Given the description of an element on the screen output the (x, y) to click on. 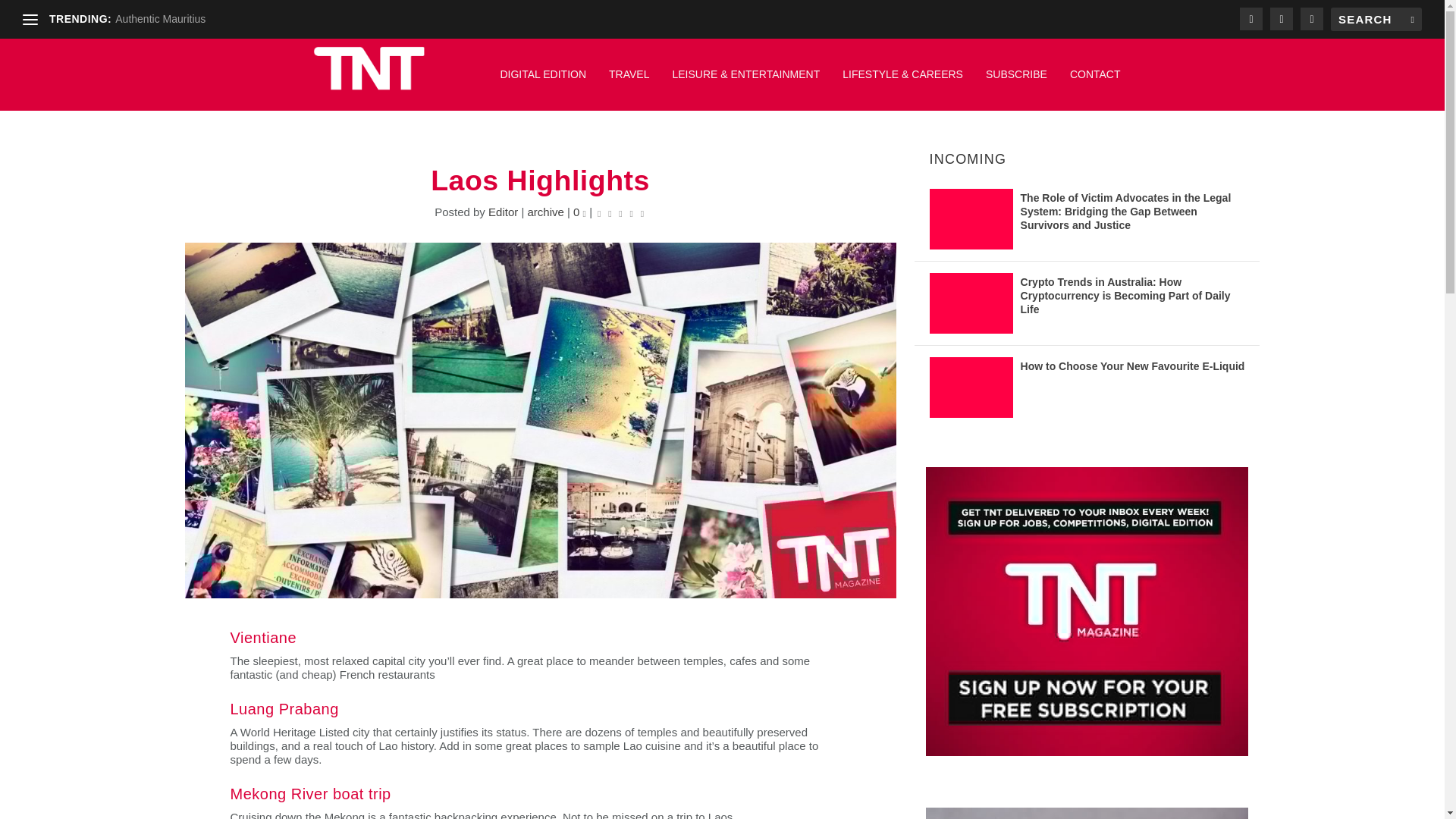
Authentic Mauritius (160, 19)
Editor (502, 211)
DIGITAL EDITION (542, 82)
SUBSCRIBE (1015, 82)
0 (579, 211)
Search for: (1376, 19)
Rating: 0.00 (620, 212)
Posts by Editor (502, 211)
archive (545, 211)
